Given the description of an element on the screen output the (x, y) to click on. 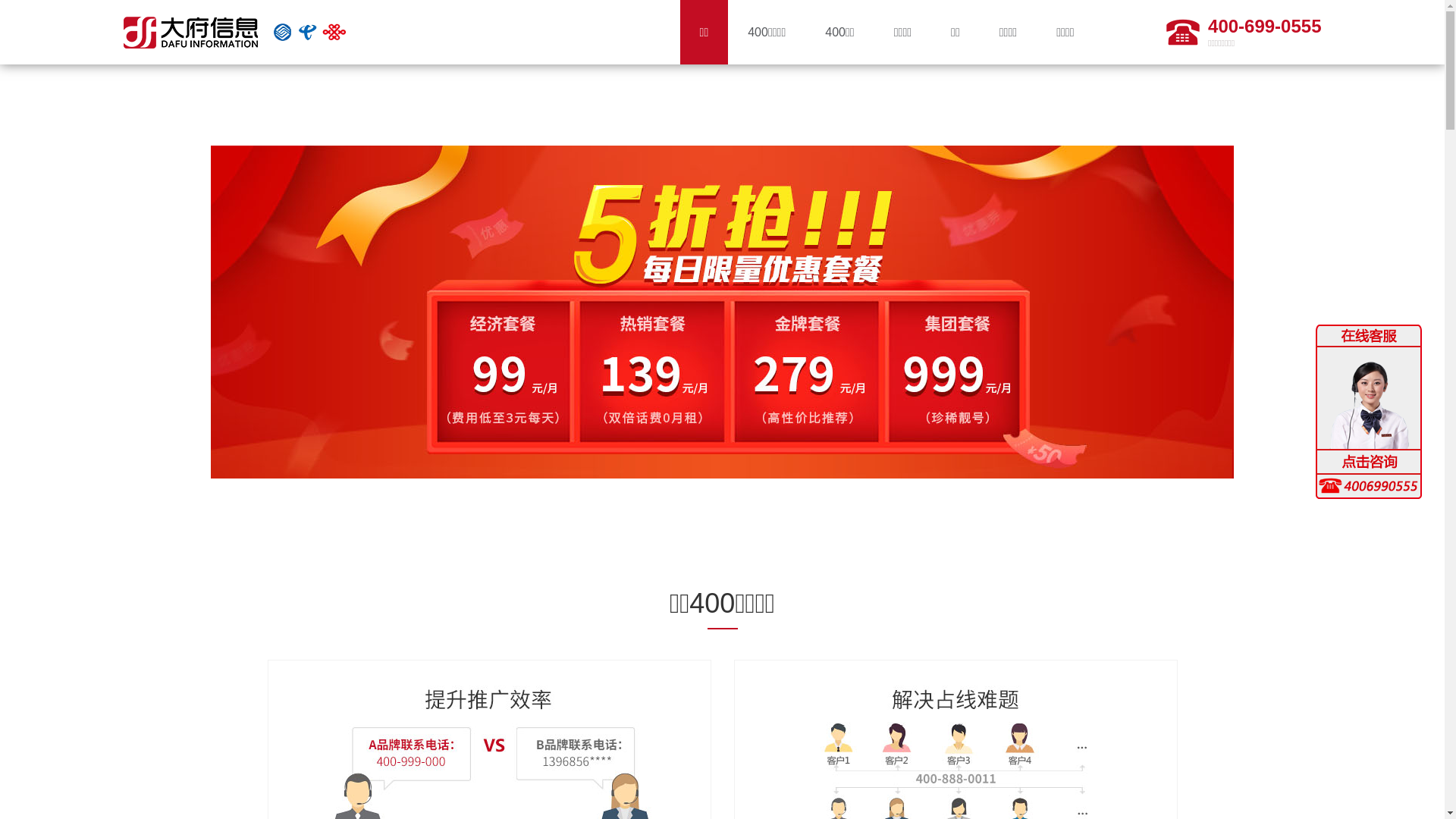
3 Element type: text (737, 505)
1 Element type: text (707, 505)
2 Element type: text (722, 505)
